Given the description of an element on the screen output the (x, y) to click on. 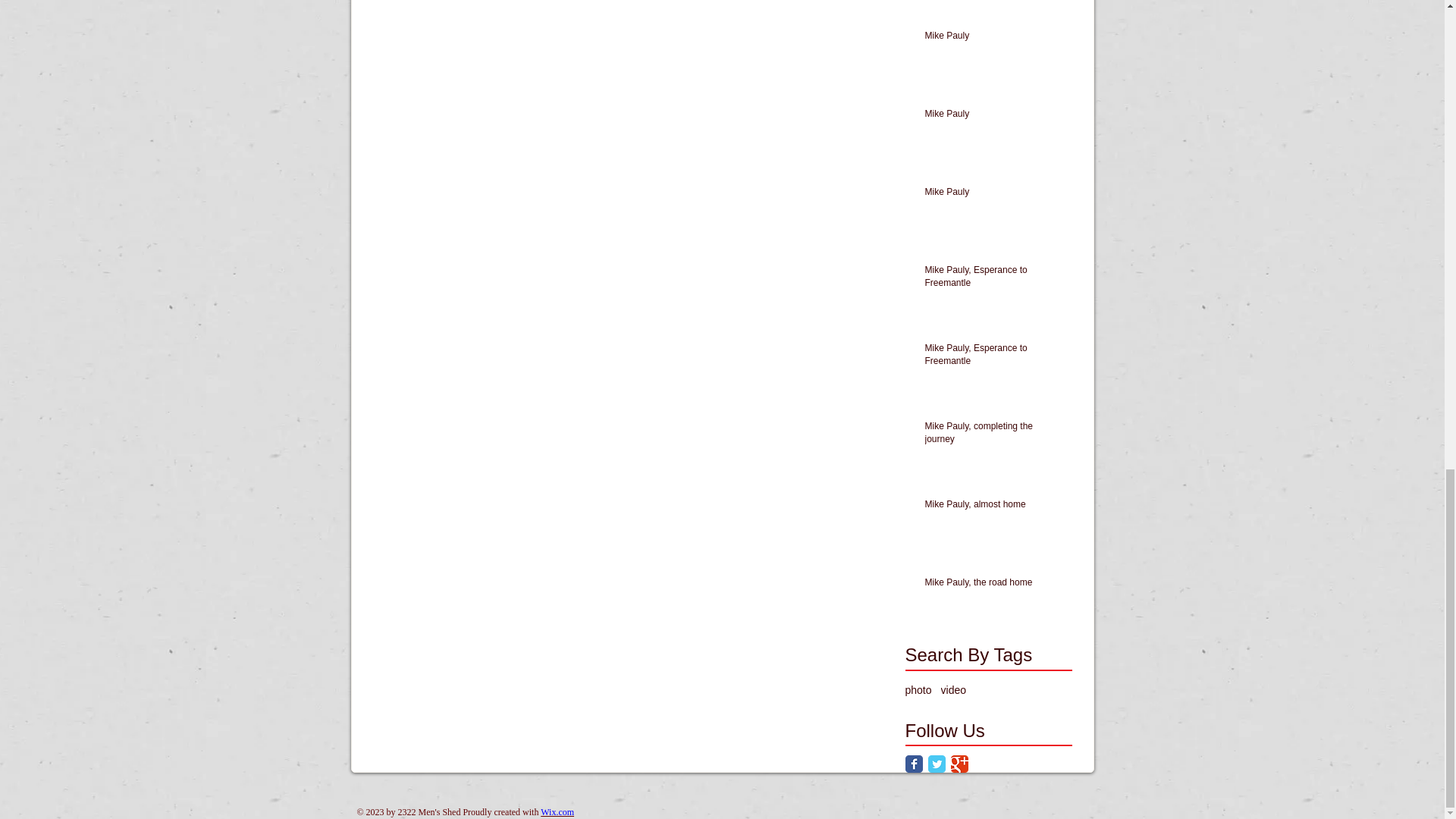
Wix.com (556, 811)
Mike Pauly, Esperance to Freemantle (993, 279)
photo (918, 689)
Mike Pauly (993, 38)
Mike Pauly (993, 116)
Mike Pauly (993, 194)
Mike Pauly, Esperance to Freemantle (993, 357)
video (953, 689)
Mike Pauly, completing the journey (993, 436)
Mike Pauly, almost home (993, 506)
